Given the description of an element on the screen output the (x, y) to click on. 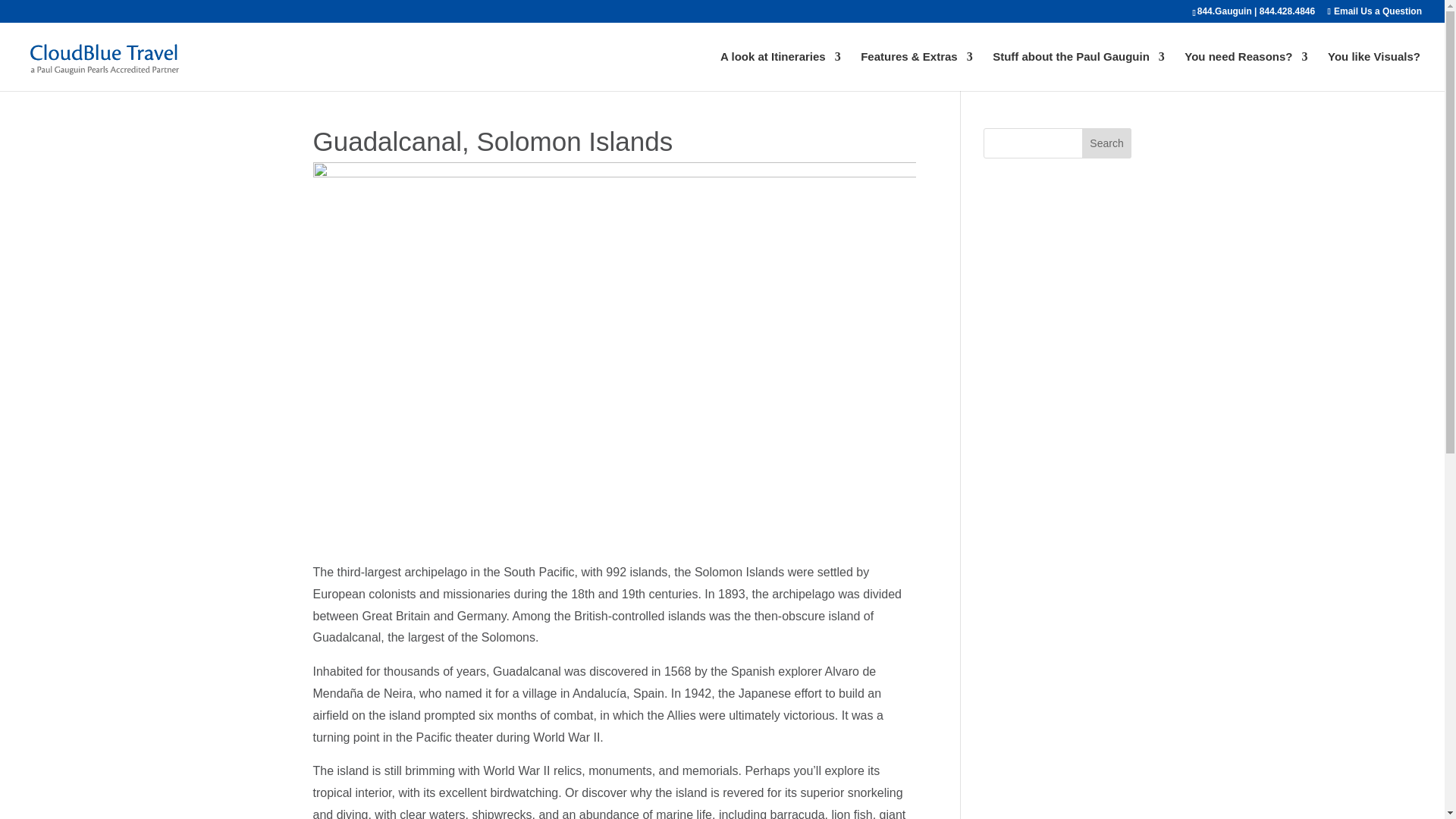
A look at Itineraries (780, 70)
Email Us a Question (1374, 10)
Stuff about the Paul Gauguin (1078, 70)
Search (1106, 142)
You like Visuals? (1374, 70)
You need Reasons? (1246, 70)
Search (1106, 142)
